Given the description of an element on the screen output the (x, y) to click on. 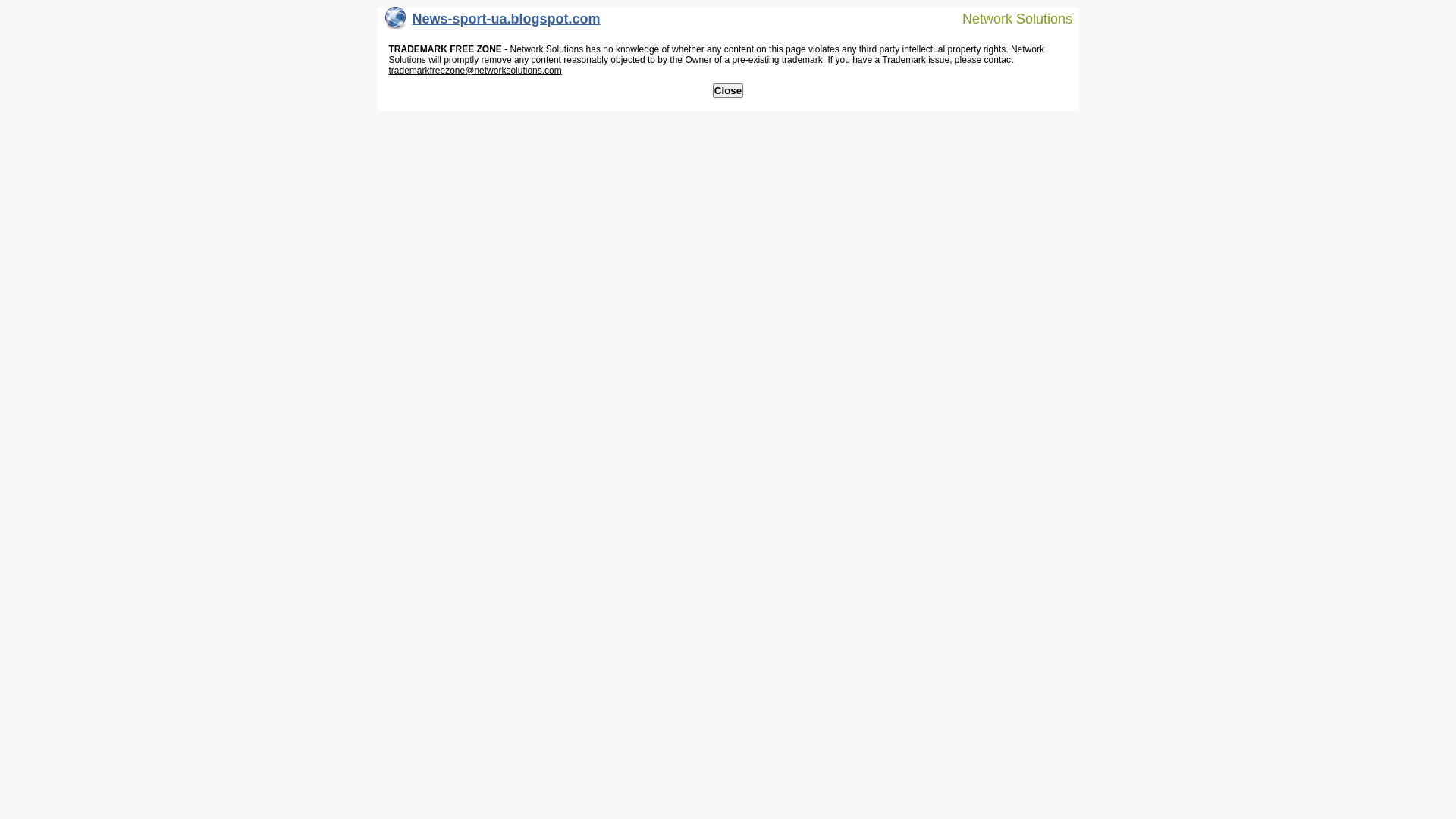
News-sport-ua.blogspot.com Element type: text (492, 21)
Network Solutions Element type: text (1007, 17)
trademarkfreezone@networksolutions.com Element type: text (474, 70)
Close Element type: text (727, 90)
